Given the description of an element on the screen output the (x, y) to click on. 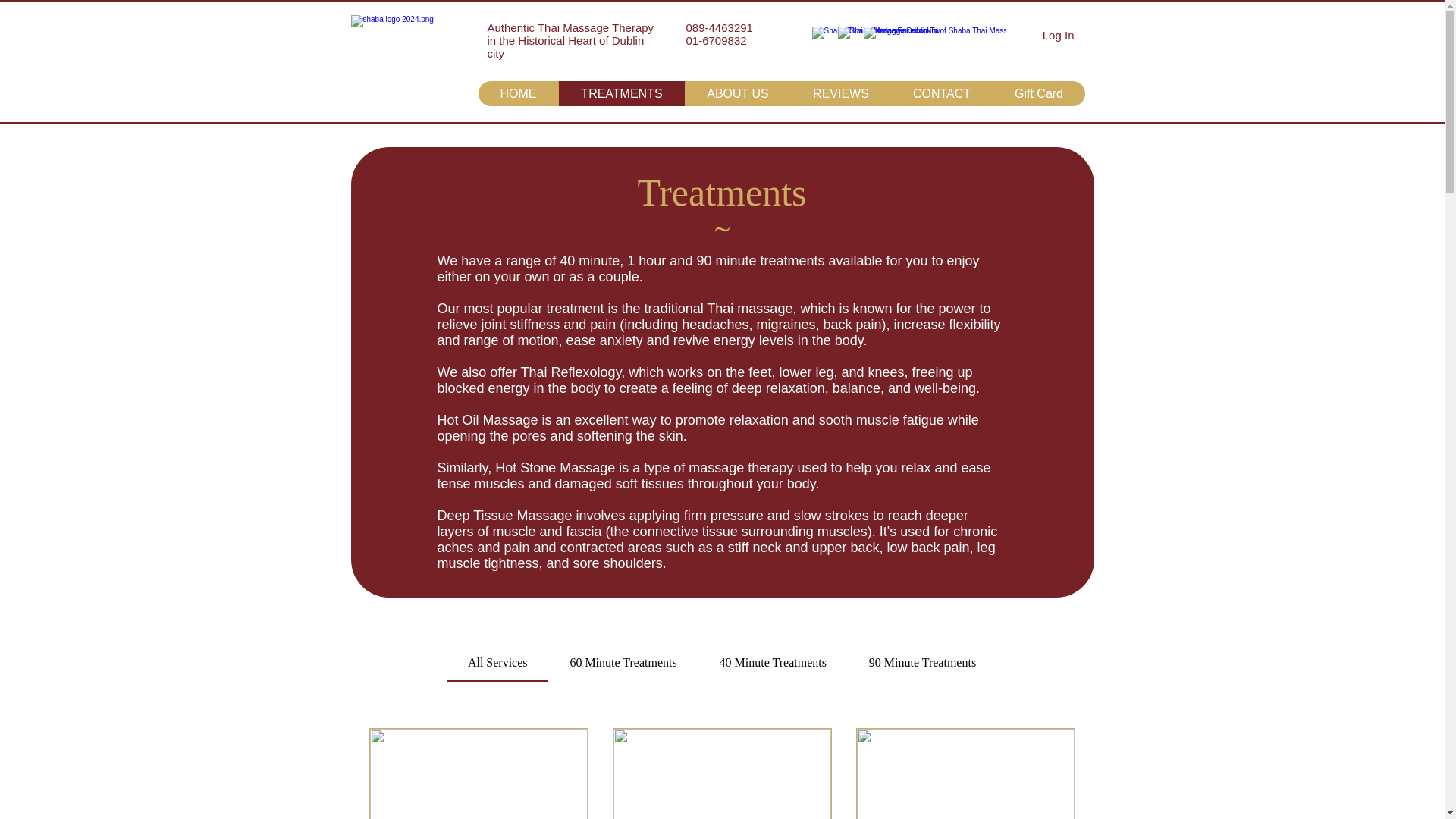
Log In (1058, 34)
TREATMENTS (620, 93)
CONTACT (940, 93)
Gift Card (1037, 93)
ABOUT US (737, 93)
HOME (517, 93)
Go to Shaba Thai Massage home page (399, 56)
REVIEWS (839, 93)
